Given the description of an element on the screen output the (x, y) to click on. 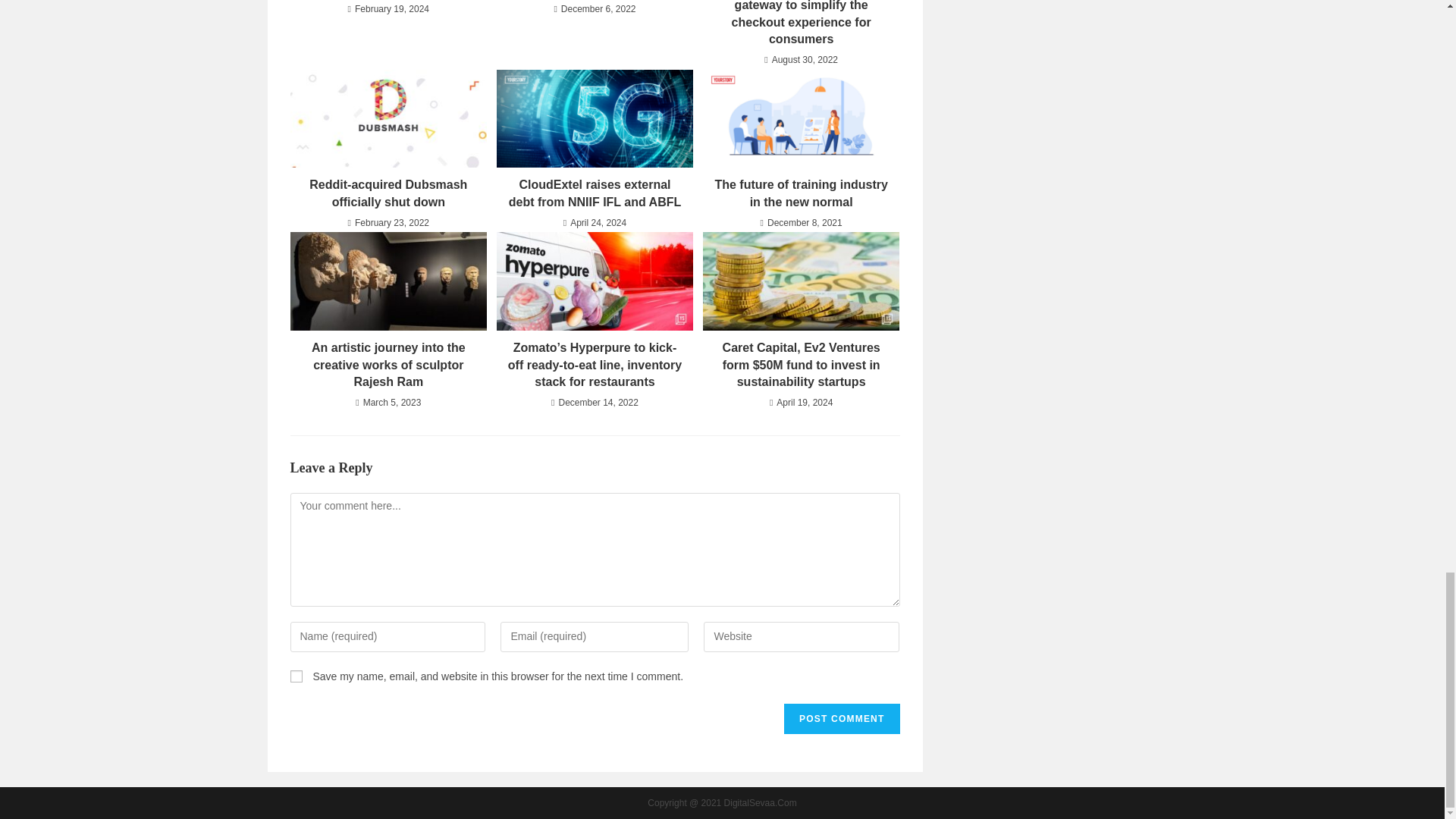
Reddit-acquired Dubsmash officially shut down (387, 193)
yes (295, 676)
Post Comment (841, 718)
CloudExtel raises external debt from NNIIF IFL and ABFL (594, 193)
Post Comment (841, 718)
The future of training industry in the new normal (801, 193)
